Given the description of an element on the screen output the (x, y) to click on. 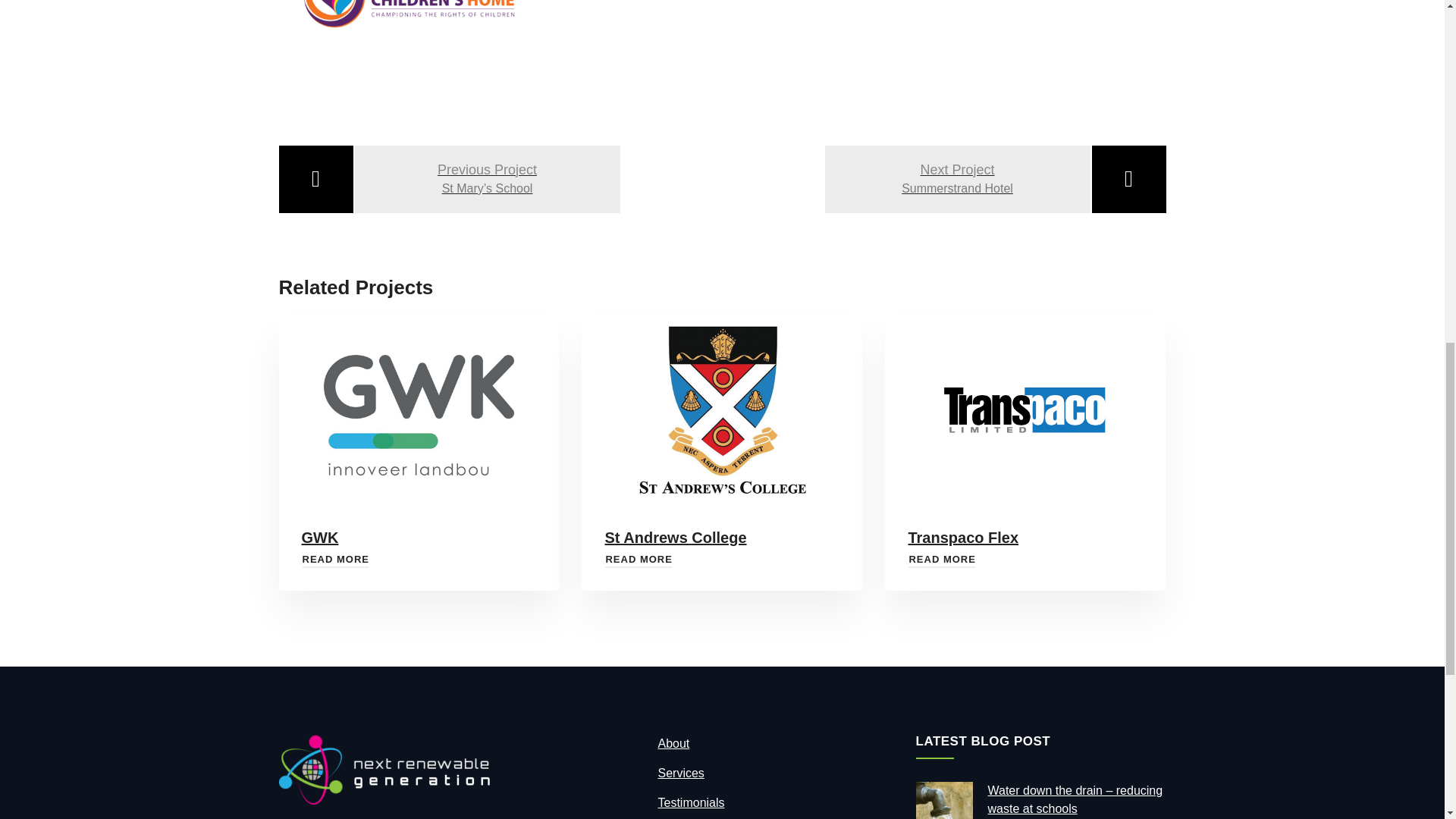
GWK (335, 559)
St Andrews College (638, 559)
Transpaco Flex (941, 559)
new-jerusalem (419, 42)
